Given the description of an element on the screen output the (x, y) to click on. 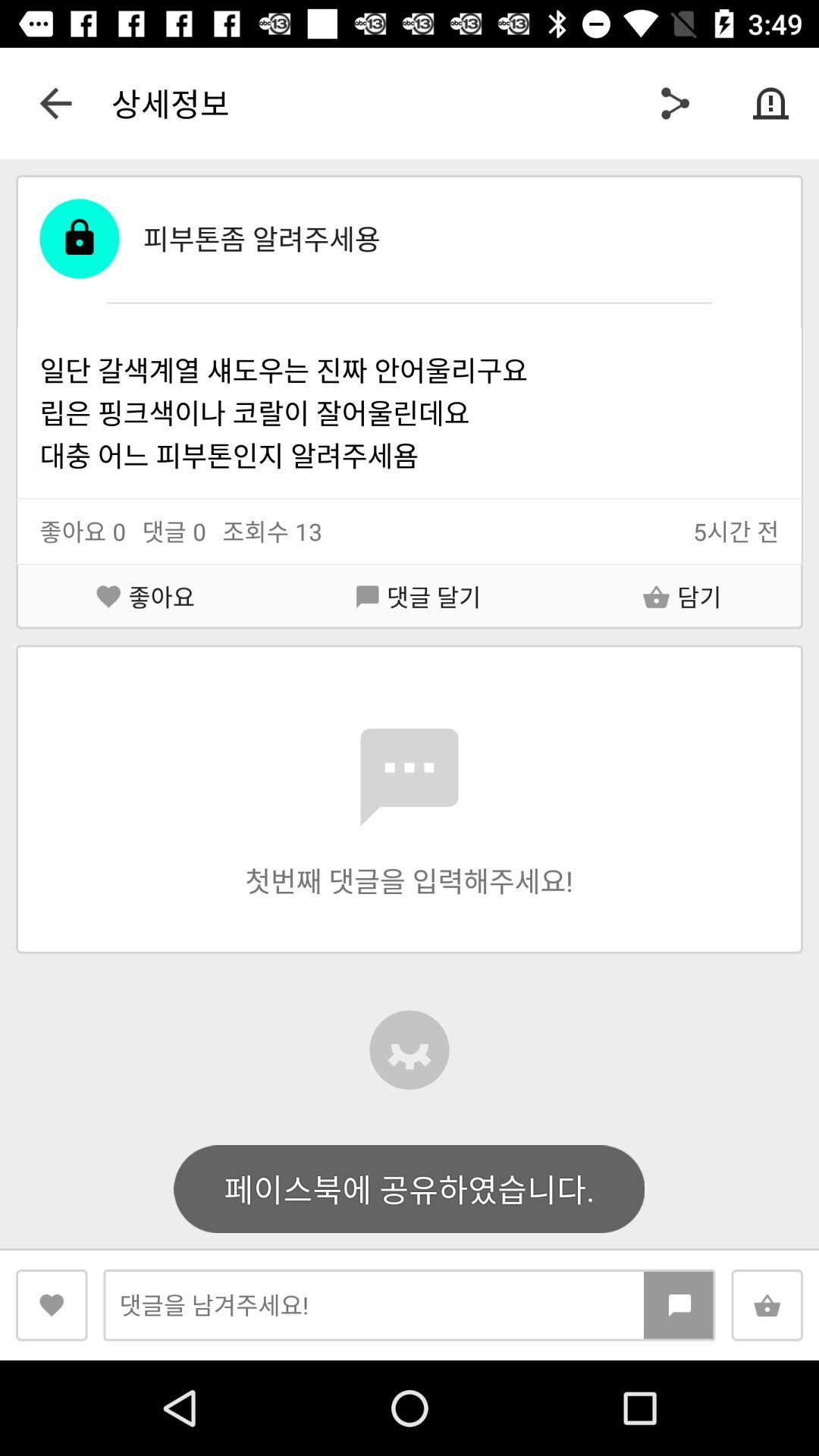
select the lock icon (79, 239)
